Given the description of an element on the screen output the (x, y) to click on. 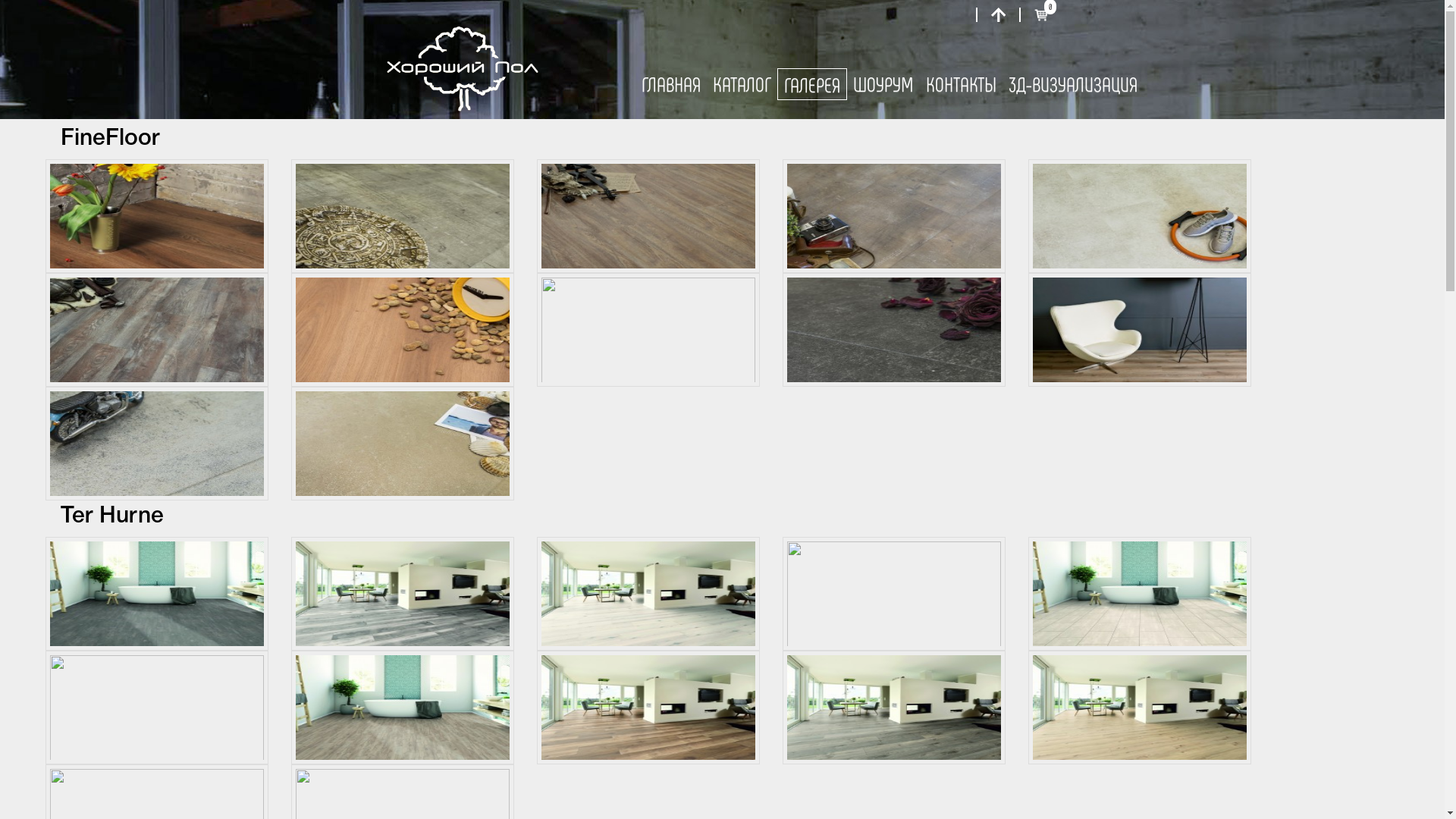
0 Element type: text (1040, 13)
